Given the description of an element on the screen output the (x, y) to click on. 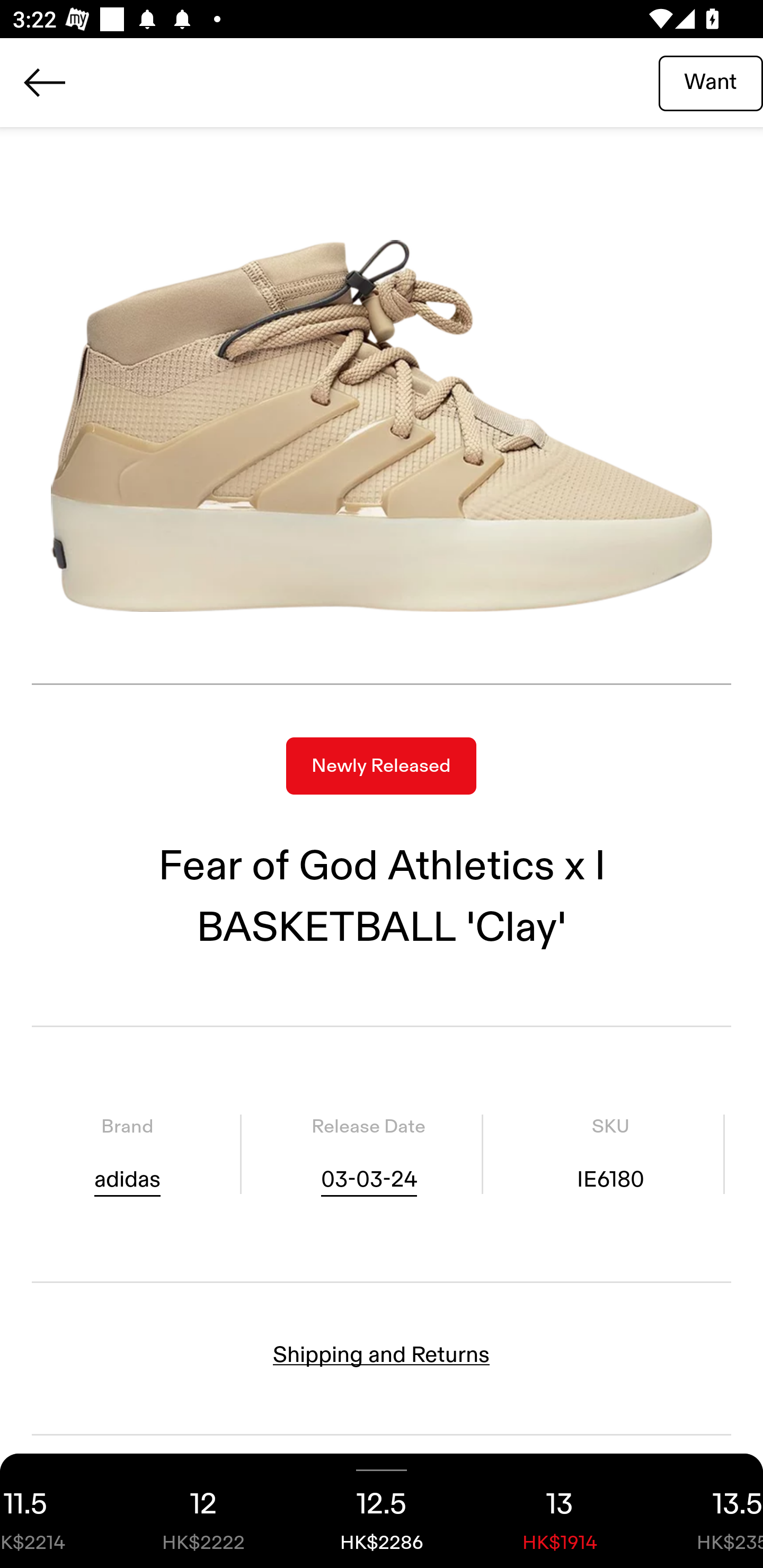
Want (710, 82)
Newly Released (381, 765)
Brand adidas (126, 1153)
Release Date 03-03-24 (368, 1153)
SKU IE6180 (609, 1153)
Shipping and Returns (381, 1355)
11.5 HK$2214 (57, 1510)
12 HK$2222 (203, 1510)
12.5 HK$2286 (381, 1510)
13 HK$1914 (559, 1510)
13.5 HK$2357 (705, 1510)
